Given the description of an element on the screen output the (x, y) to click on. 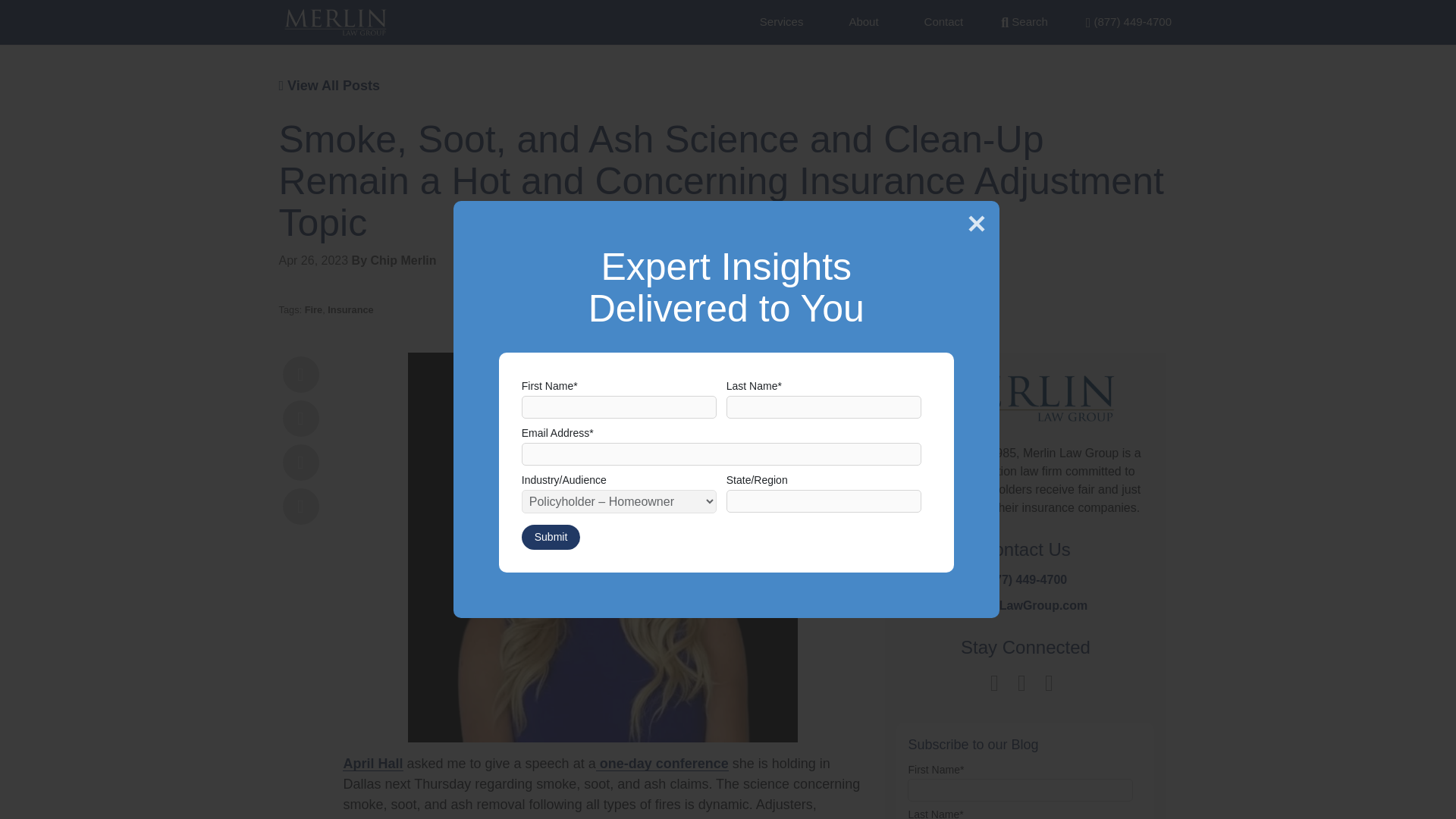
Insurance (349, 309)
LinkedIn link (1021, 682)
Facebook link (994, 682)
Contact (943, 21)
Property Insurance Coverage Law Blog (1025, 408)
Menu (1129, 21)
one-day conference (662, 763)
Property Insurance Coverage Law Blog (335, 22)
View All Posts (329, 85)
Fire (312, 309)
Search (1024, 21)
Close (975, 223)
About (862, 21)
By Chip Merlin (394, 259)
